Given the description of an element on the screen output the (x, y) to click on. 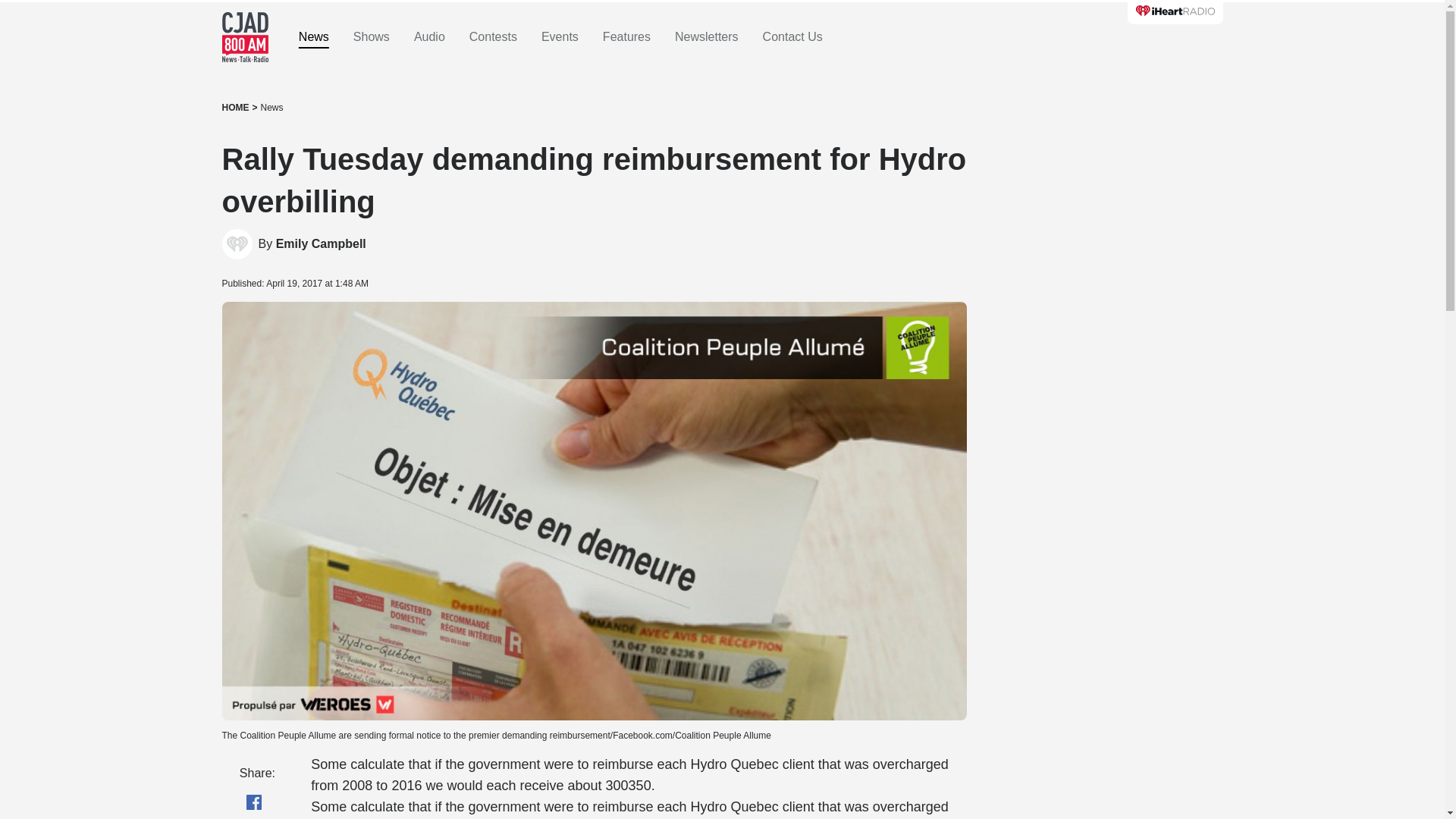
HOME (234, 107)
Emily Campbell (236, 244)
Contact Us (792, 37)
Emily Campbell (321, 243)
Emily Campbell (321, 243)
Features (626, 37)
Newsletters (706, 37)
News (271, 107)
Contests (492, 37)
